Given the description of an element on the screen output the (x, y) to click on. 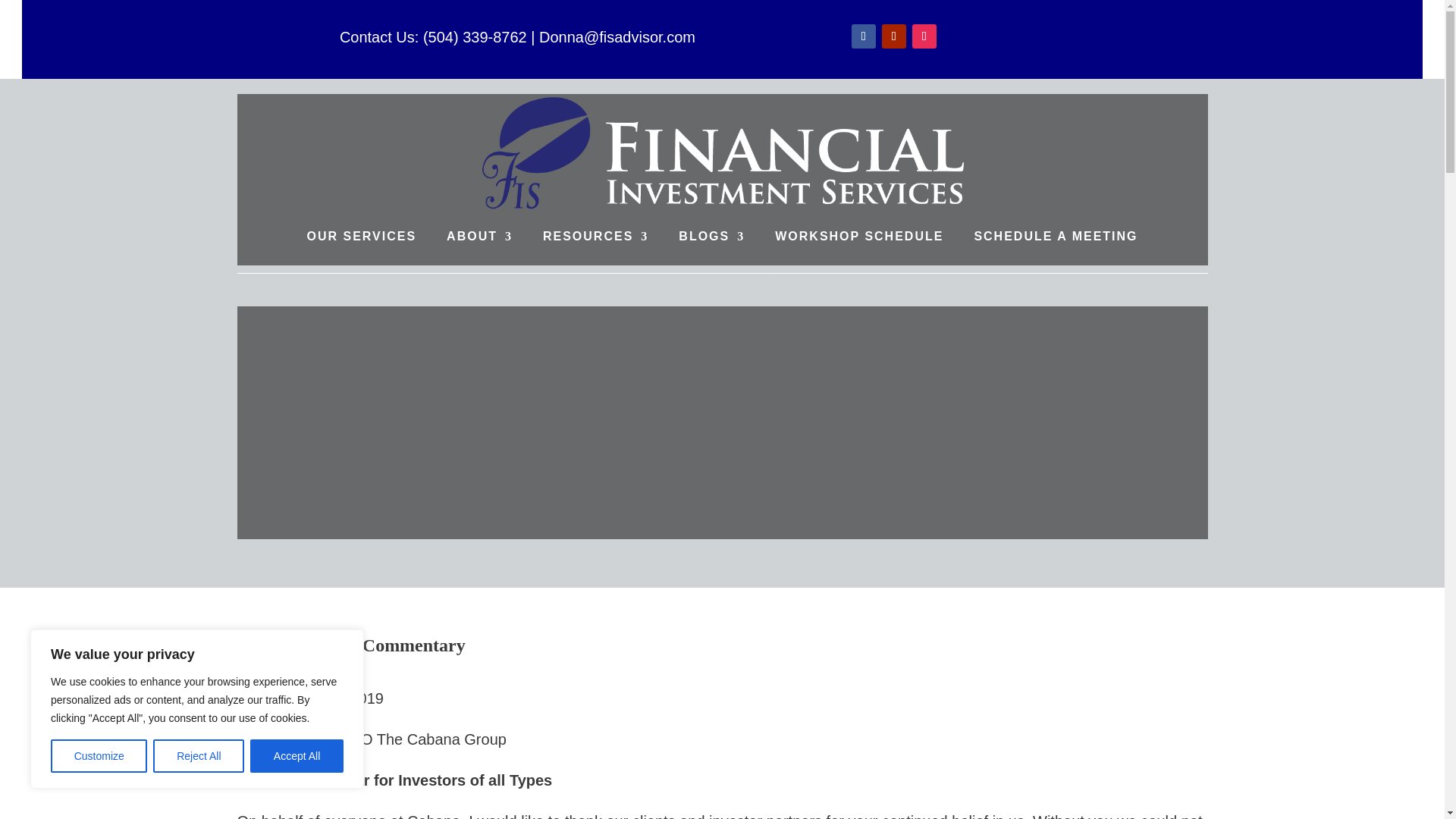
OUR SERVICES (360, 236)
RESOURCES (595, 236)
BLOGS (711, 236)
Follow on Youtube (893, 36)
Accept All (296, 756)
Follow on Instagram (924, 36)
ABOUT (479, 236)
Follow on Facebook (863, 36)
SCHEDULE A MEETING (1055, 236)
Reject All (198, 756)
Customize (98, 756)
WORKSHOP SCHEDULE (858, 236)
